Given the description of an element on the screen output the (x, y) to click on. 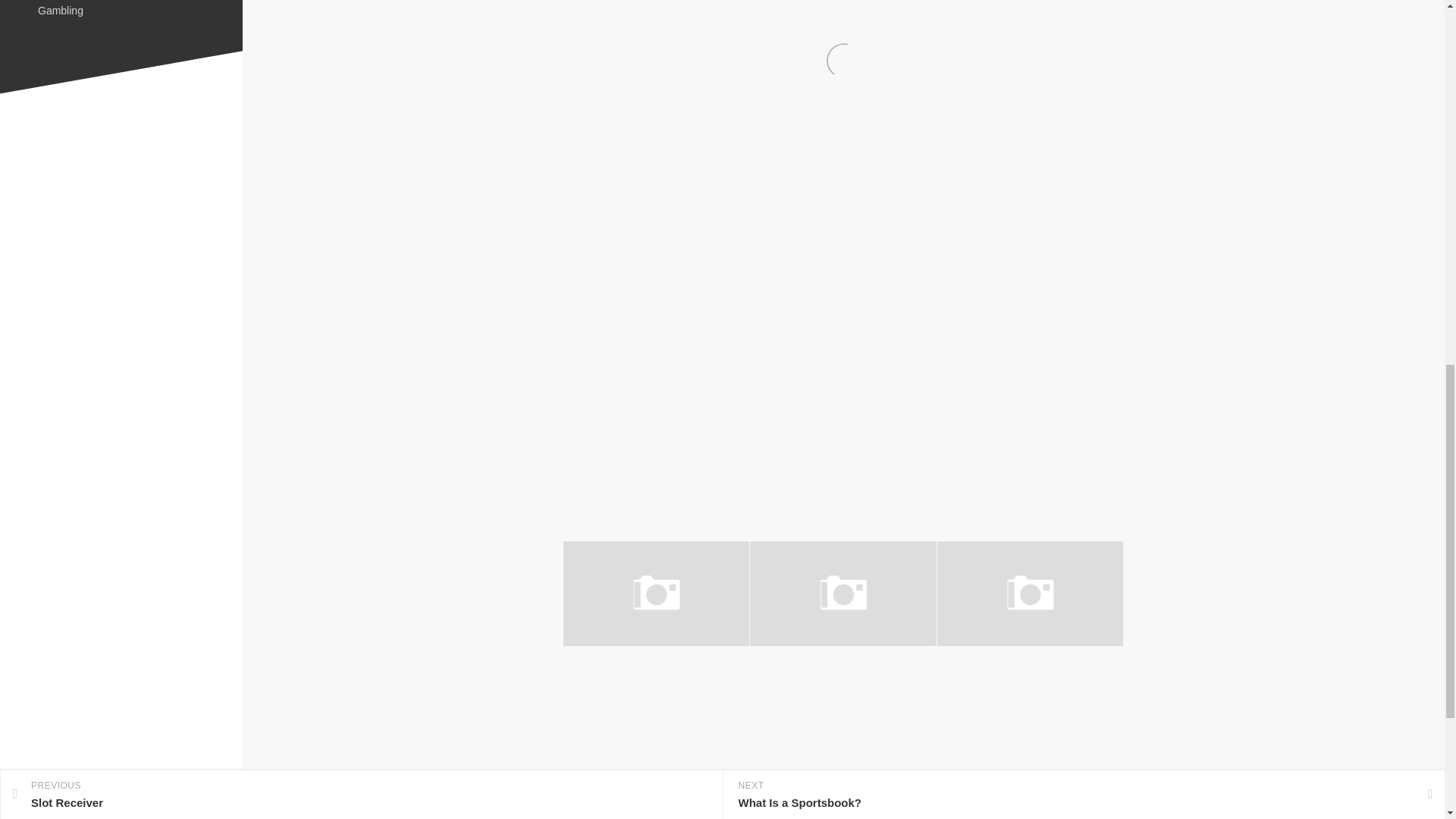
What You Need to Know About a Sportsbook (631, 678)
What is a Lottery? (801, 669)
Why You Should Play at a Live Casino Online (1011, 678)
Gambling (59, 10)
